Given the description of an element on the screen output the (x, y) to click on. 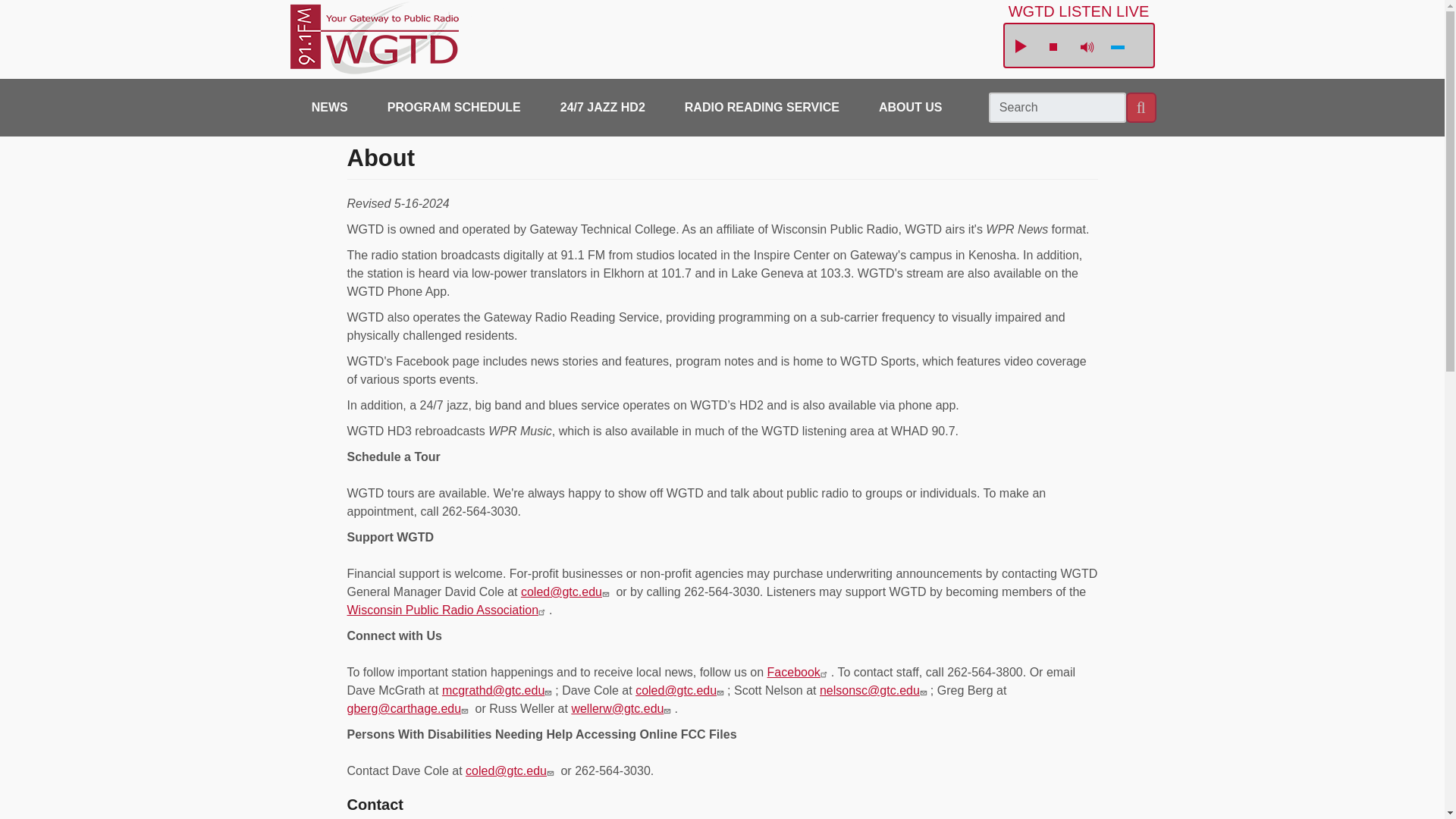
WGTD (405, 39)
Search (1140, 107)
RADIO READING SERVICE (761, 107)
Enter the terms you wish to search for. (1056, 107)
Home (405, 39)
PROGRAM SCHEDULE (453, 107)
stop (1052, 46)
NEWS (329, 107)
play (1018, 46)
mute (1086, 47)
